Given the description of an element on the screen output the (x, y) to click on. 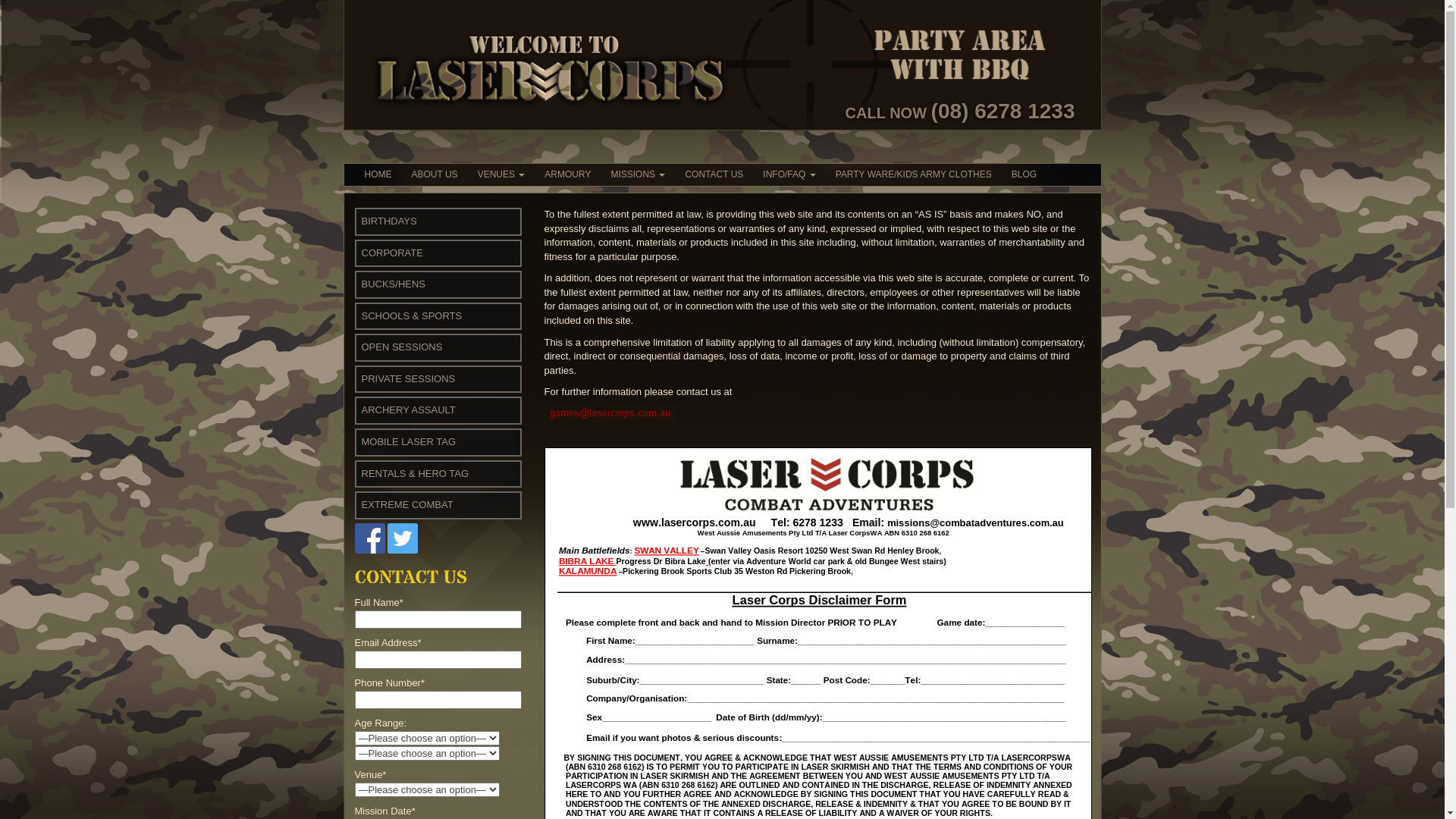
OPEN SESSIONS Element type: text (401, 346)
CONTACT US Element type: text (713, 174)
ARCHERY ASSAULT Element type: text (407, 409)
BLOG Element type: text (1023, 174)
HOME Element type: text (377, 174)
RENTALS & HERO TAG Element type: text (414, 473)
ARMOURY Element type: text (567, 174)
MOBILE LASER TAG Element type: text (407, 441)
PRIVATE SESSIONS Element type: text (407, 378)
BUCKS/HENS Element type: text (392, 283)
EXTREME COMBAT Element type: text (406, 504)
PARTY WARE/KIDS ARMY CLOTHES Element type: text (913, 174)
MISSIONS Element type: text (637, 174)
VENUES Element type: text (501, 174)
INFO/FAQ Element type: text (789, 174)
ABOUT US Element type: text (434, 174)
(08) 6278 1233 Element type: text (1003, 110)
CORPORATE Element type: text (391, 252)
BIRTHDAYS Element type: text (388, 220)
SCHOOLS & SPORTS Element type: text (410, 315)
